Given the description of an element on the screen output the (x, y) to click on. 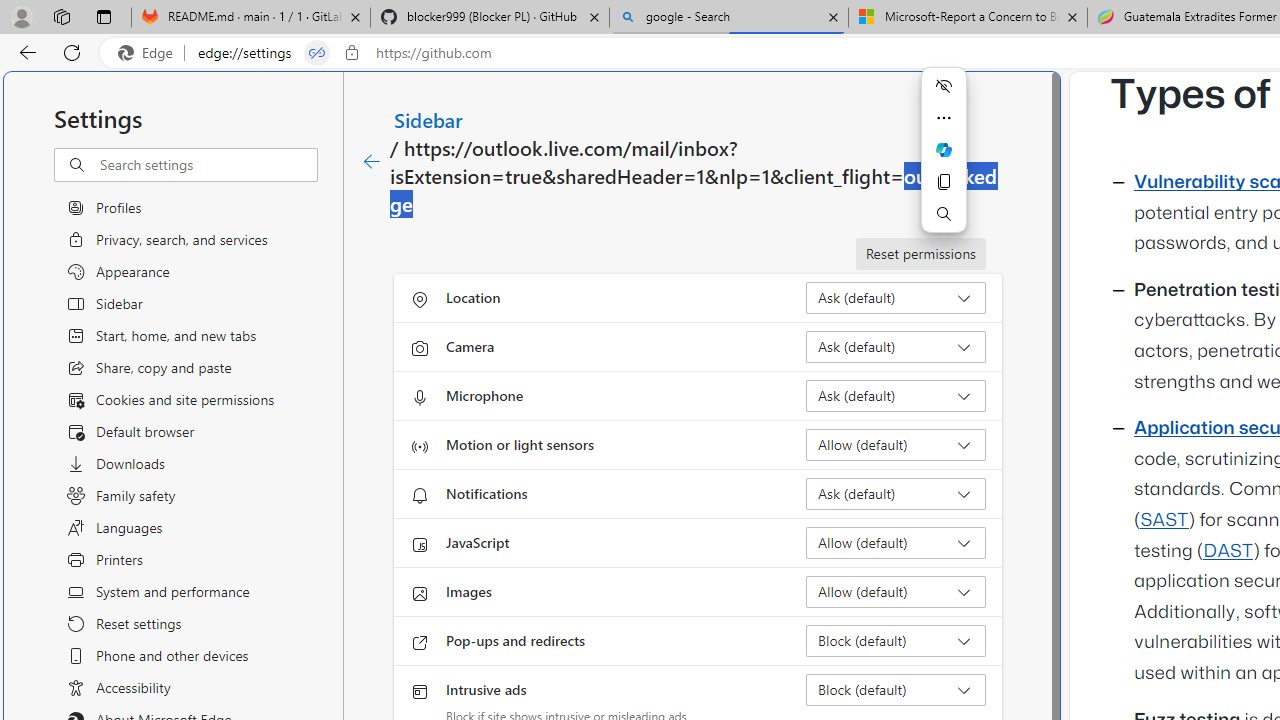
Reset permissions (920, 254)
Camera Ask (default) (895, 346)
Microphone Ask (default) (895, 395)
Tabs in split screen (317, 53)
Motion or light sensors Allow (default) (895, 444)
Copy (943, 182)
Location Ask (default) (895, 297)
Go back to Sidebar page. (372, 162)
Sidebar (429, 119)
Search settings (207, 165)
DAST (1228, 551)
